Given the description of an element on the screen output the (x, y) to click on. 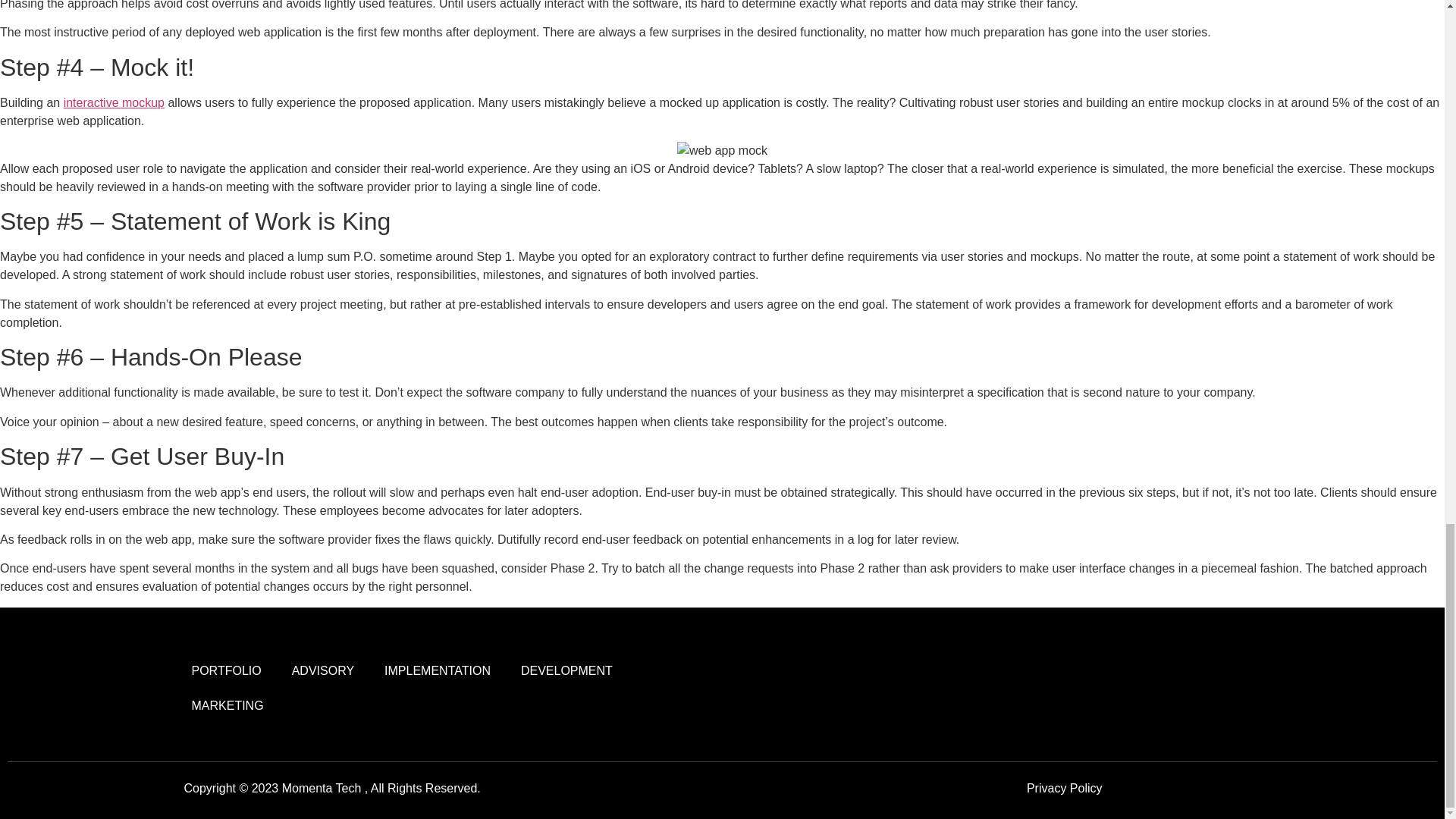
Privacy Policy (1064, 788)
PORTFOLIO (226, 670)
MARKETING (227, 705)
DEVELOPMENT (566, 670)
IMPLEMENTATION (437, 670)
ADVISORY (322, 670)
interactive mockup (114, 102)
